Given the description of an element on the screen output the (x, y) to click on. 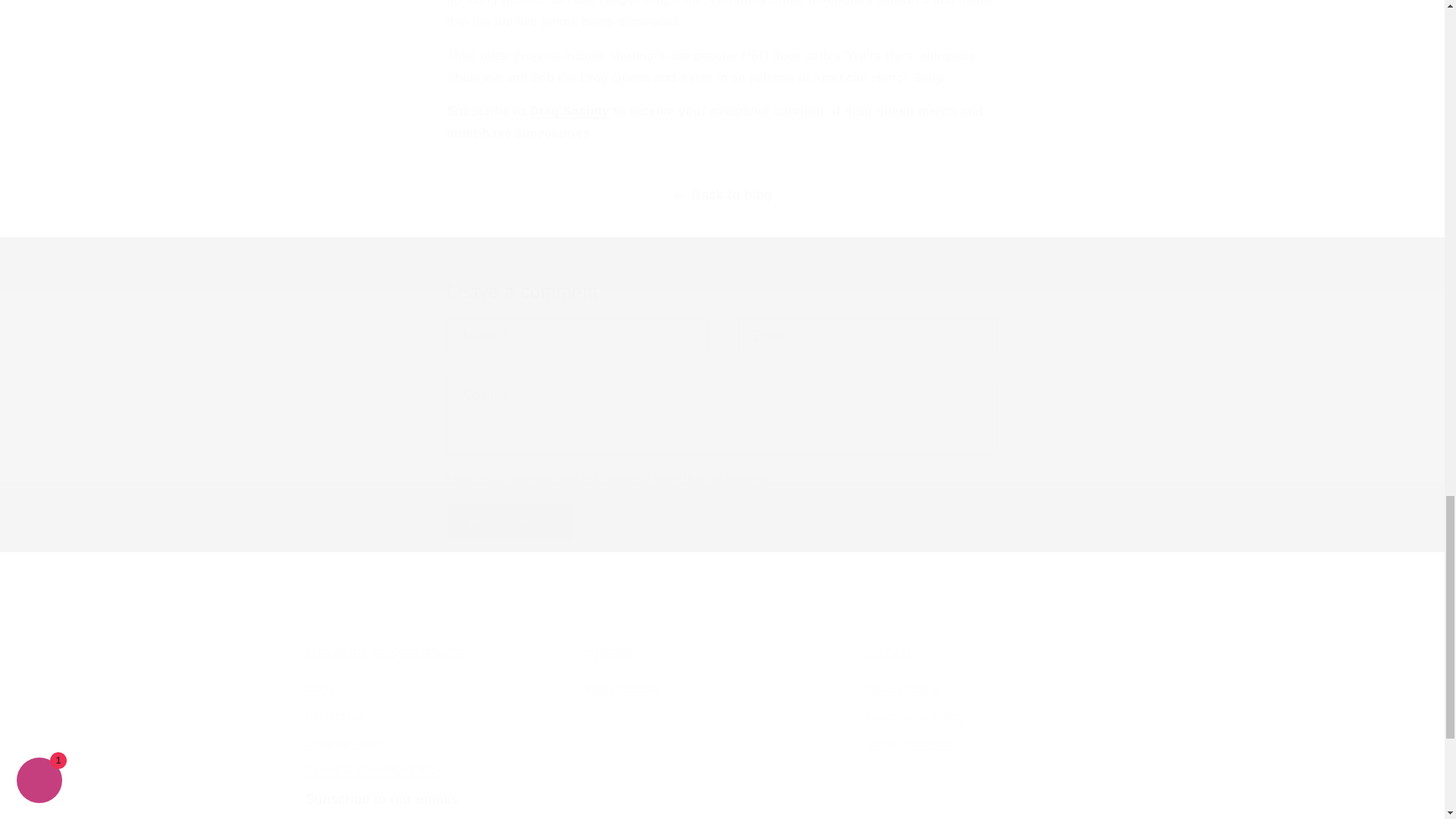
Post comment (1001, 714)
